Given the description of an element on the screen output the (x, y) to click on. 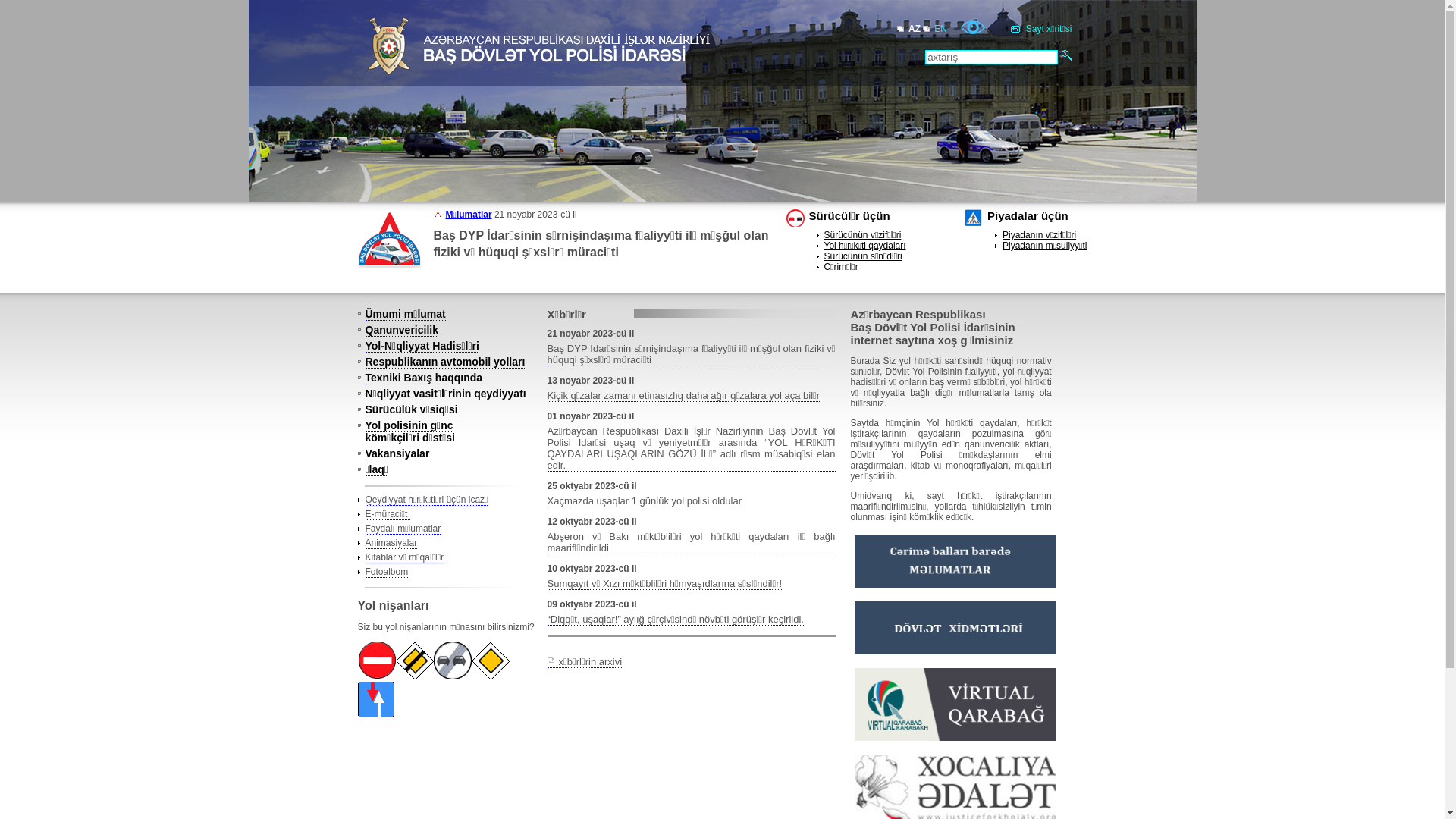
Qanunvericilik Element type: text (401, 329)
Fotoalbom Element type: text (386, 571)
EN Element type: text (940, 28)
Vakansiyalar Element type: text (397, 453)
Animasiyalar Element type: text (391, 543)
